Given the description of an element on the screen output the (x, y) to click on. 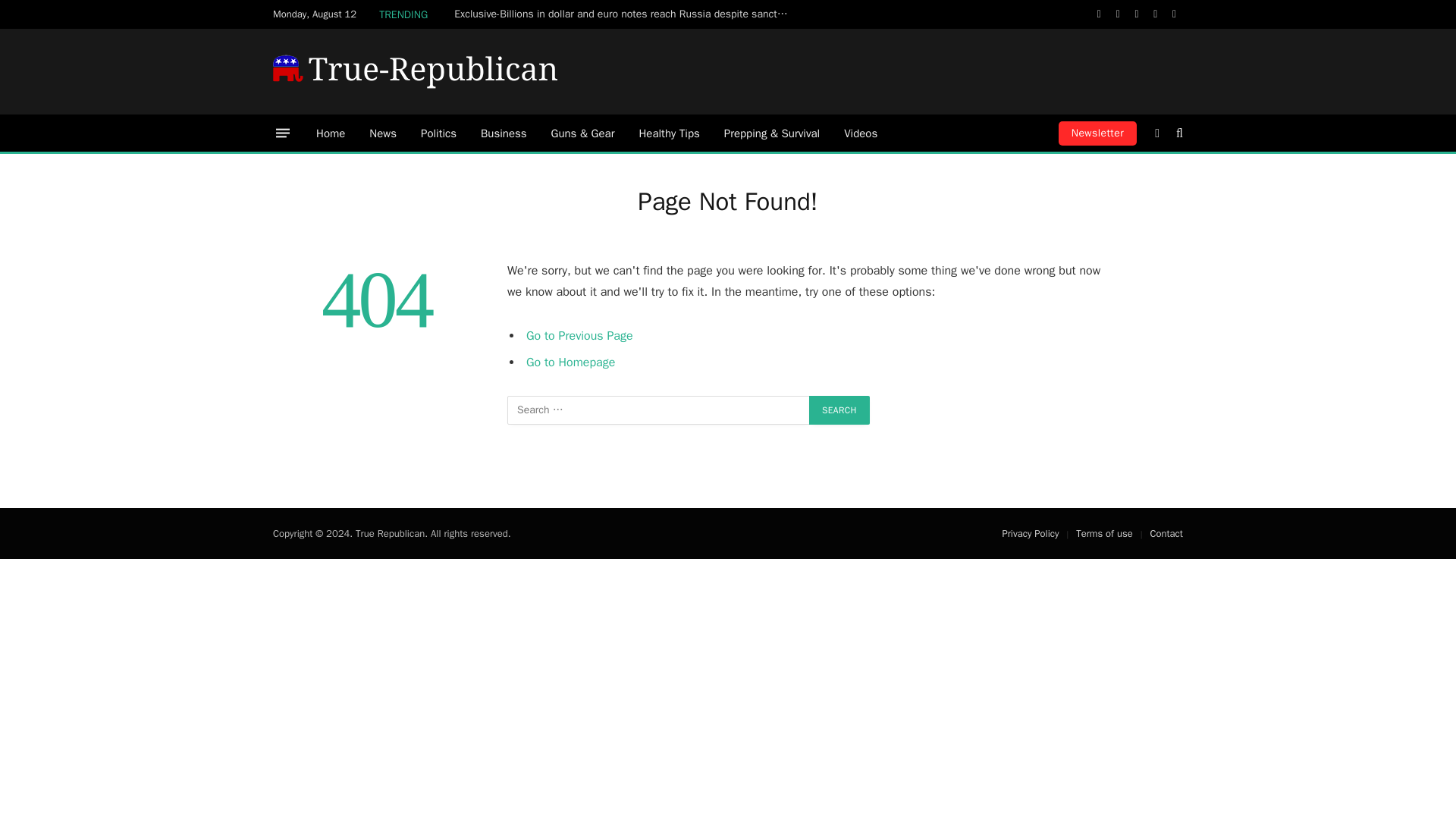
Videos (860, 132)
Home (330, 132)
Business (503, 132)
Search (839, 410)
Switch to Dark Design - easier on eyes. (1157, 133)
Search (839, 410)
Politics (438, 132)
True Republican (415, 71)
News (382, 132)
